Given the description of an element on the screen output the (x, y) to click on. 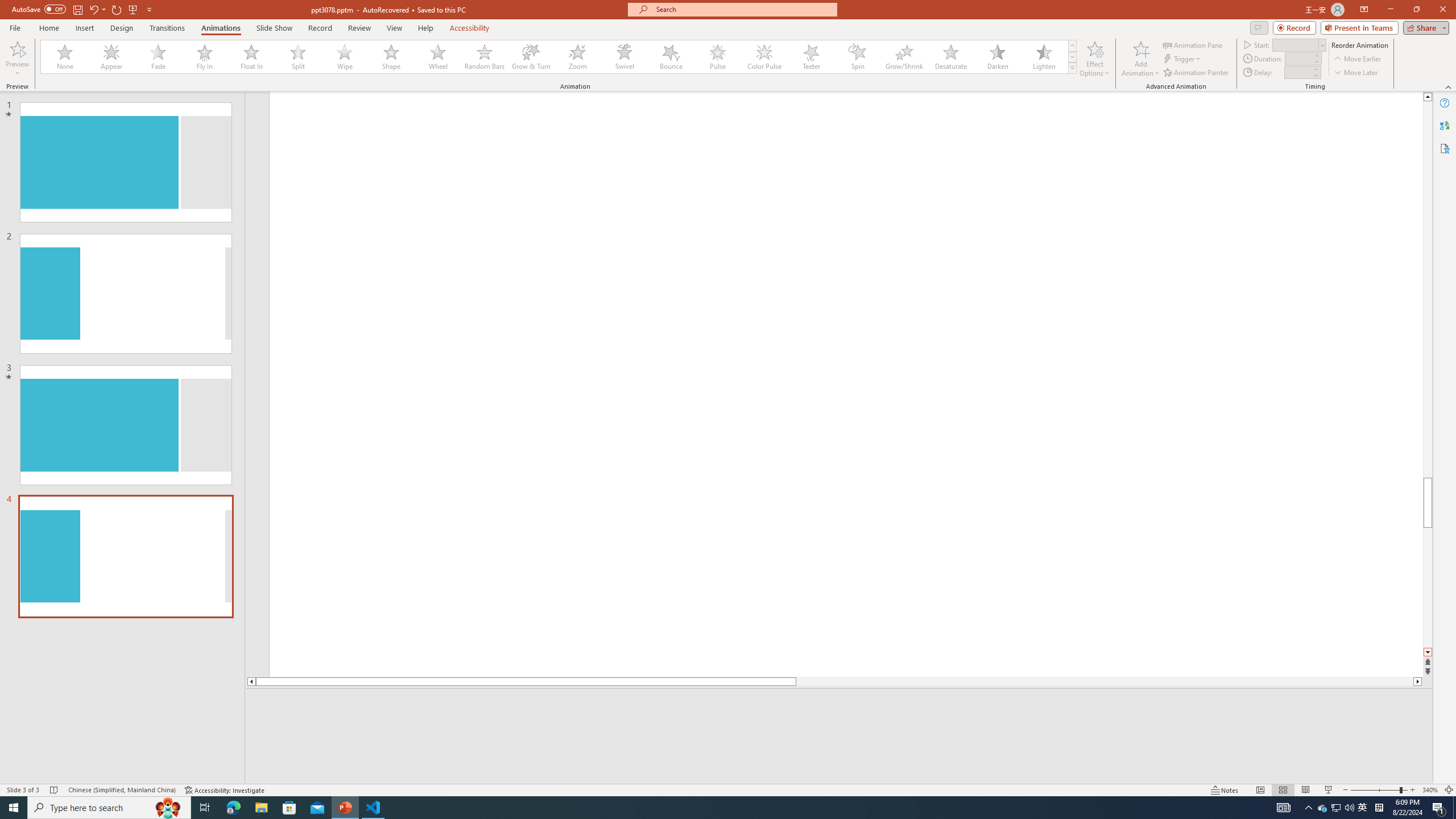
Split (298, 56)
Wheel (437, 56)
Darken (997, 56)
Animation Duration (1298, 58)
Color Pulse (764, 56)
AutomationID: AnimationGallery (558, 56)
Effect Options (1094, 58)
